Given the description of an element on the screen output the (x, y) to click on. 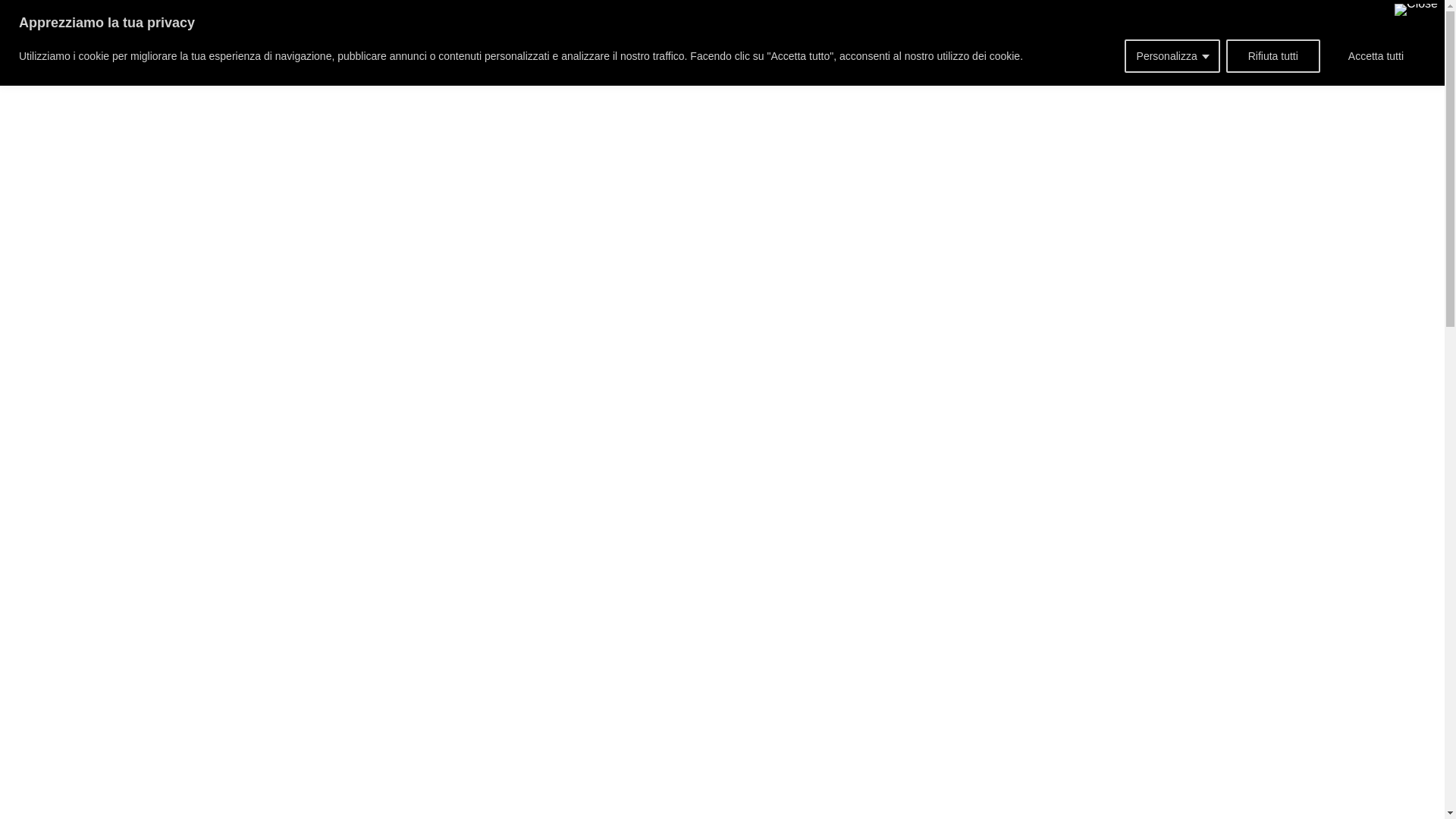
SURFACES (441, 29)
Personalizza (1172, 55)
Rifiuta tutti (1272, 55)
Accetta tutti (1375, 55)
ENG (1267, 27)
COLLECTION (607, 29)
